Given the description of an element on the screen output the (x, y) to click on. 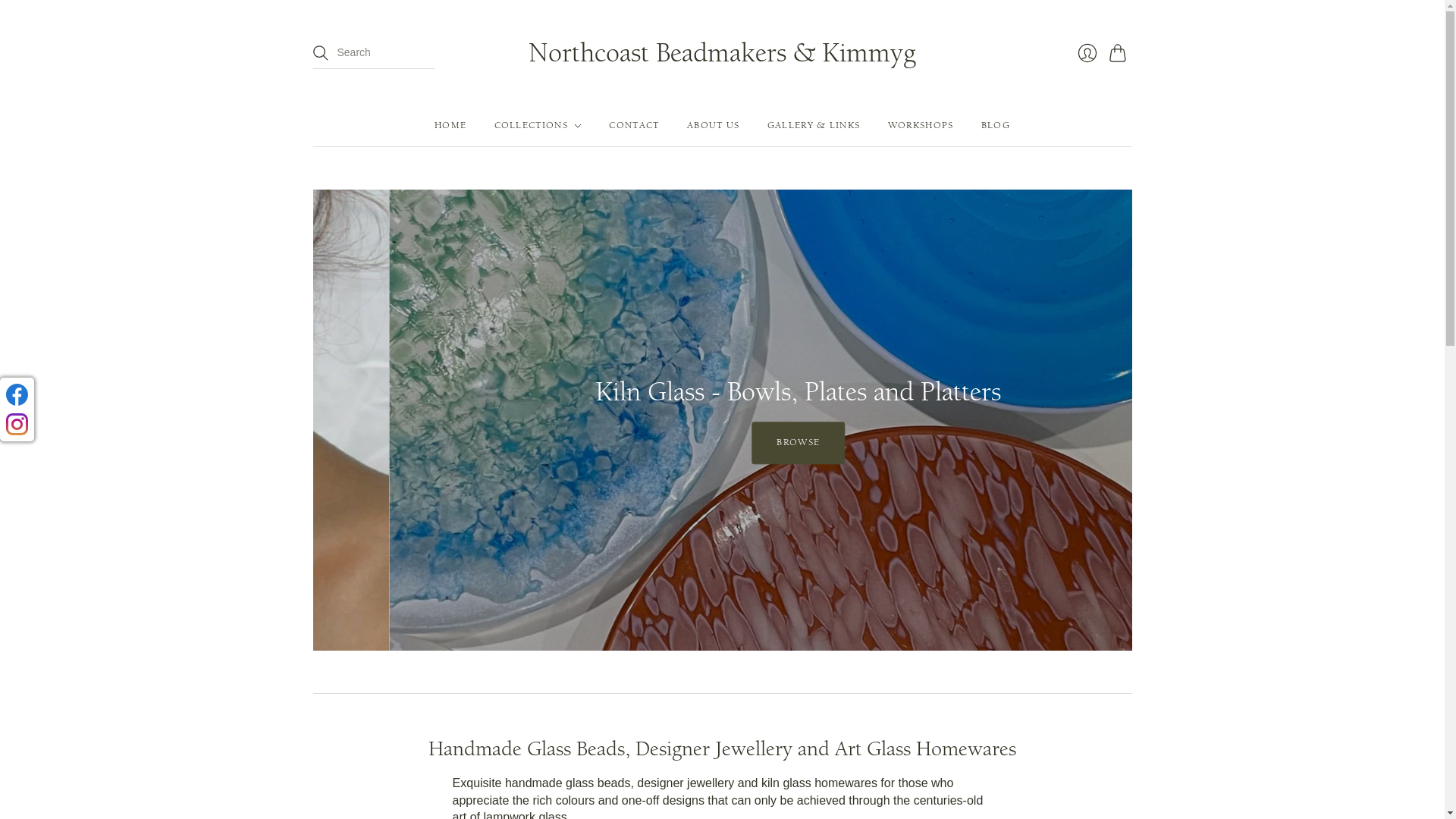
CONTACT Element type: text (633, 125)
Northcoast Beadmakers & Kimmyg Element type: text (722, 52)
BROWSE Element type: text (721, 443)
WORKSHOPS Element type: text (920, 125)
GALLERY & LINKS Element type: text (813, 125)
Cart Element type: text (1119, 52)
Login Element type: text (1086, 52)
COLLECTIONS Element type: text (537, 125)
ABOUT US Element type: text (713, 125)
BLOG Element type: text (995, 125)
HOME Element type: text (450, 125)
